Given the description of an element on the screen output the (x, y) to click on. 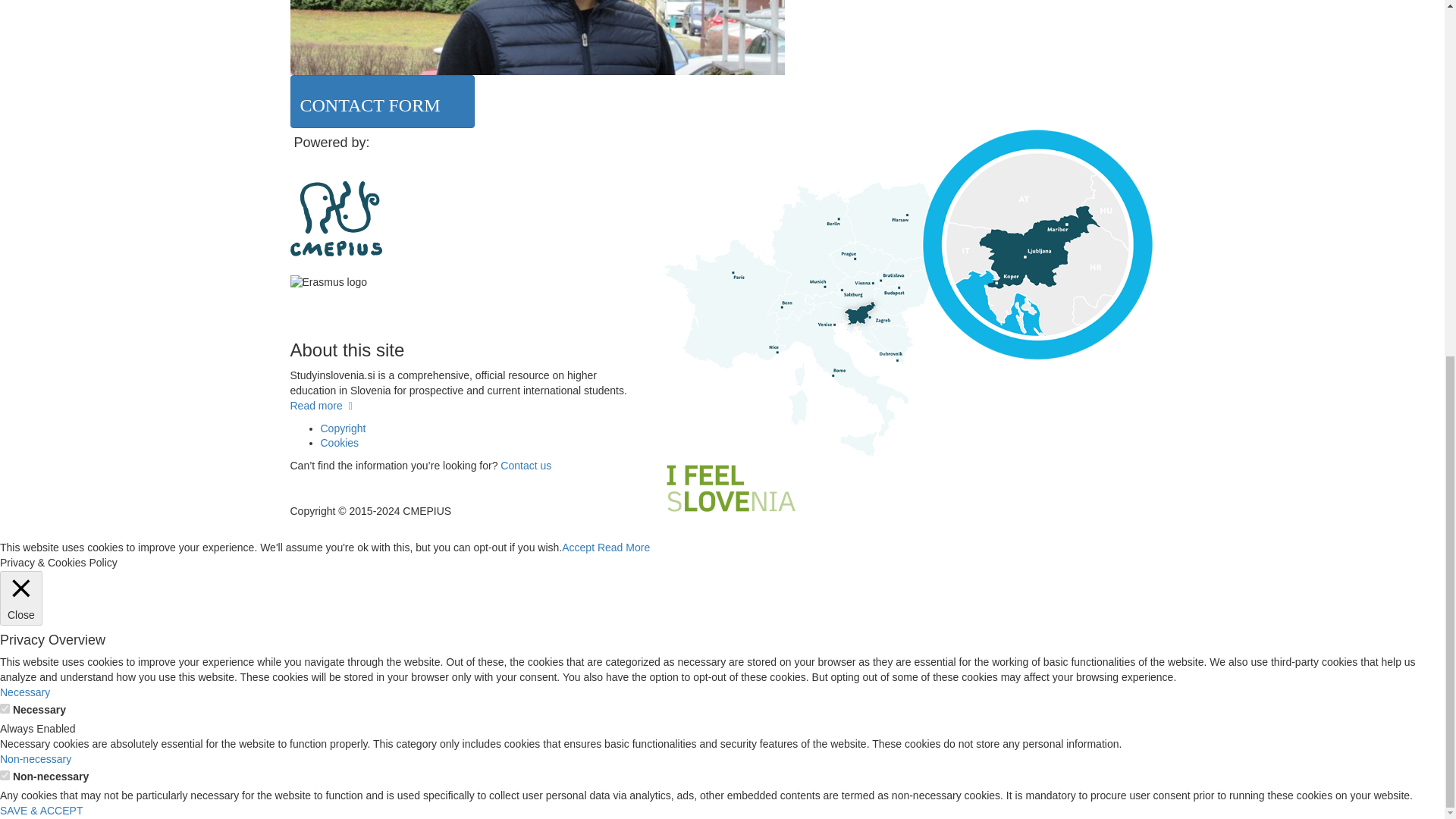
on (5, 708)
on (5, 775)
